Given the description of an element on the screen output the (x, y) to click on. 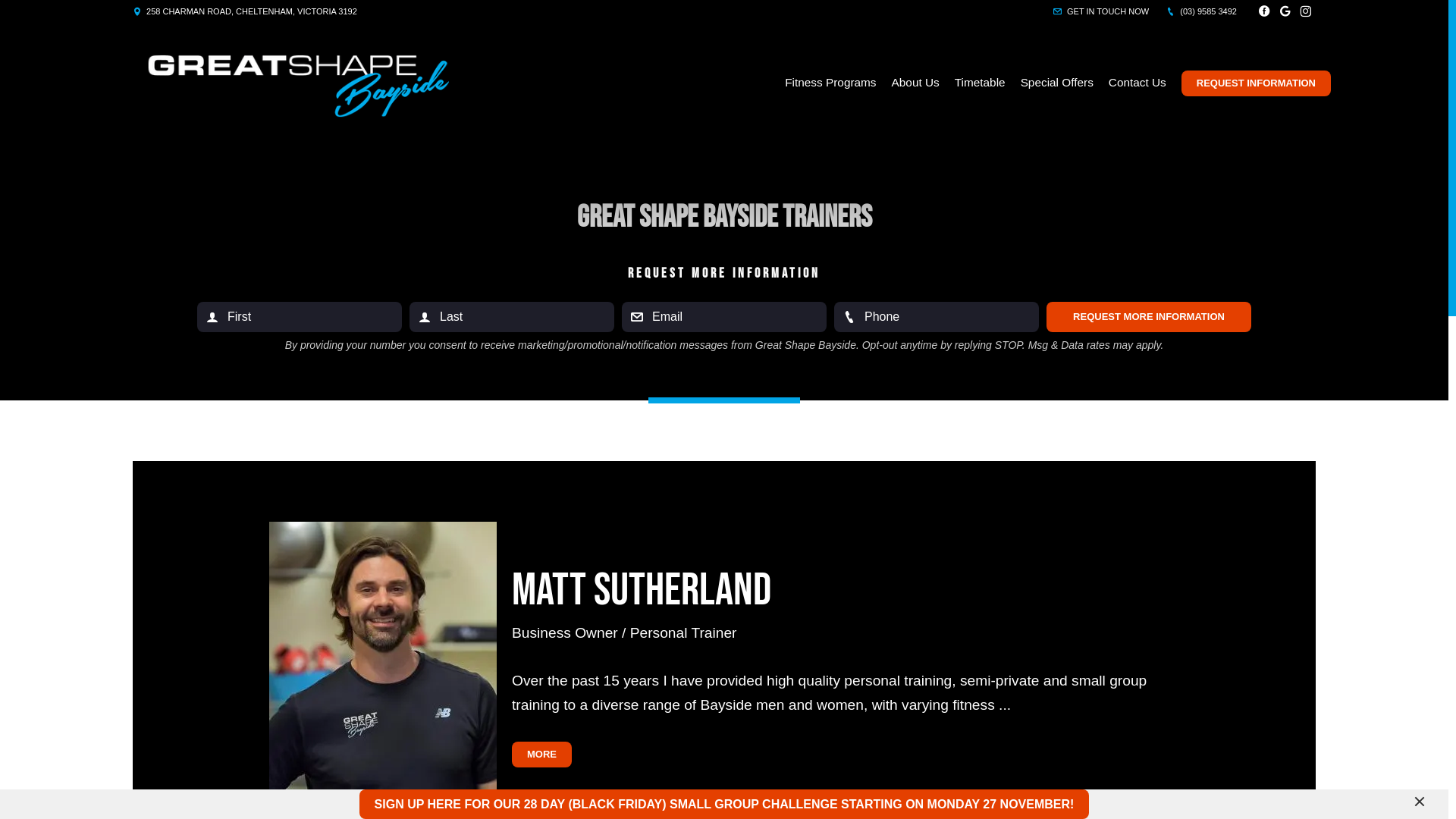
Fitness Programs Element type: text (830, 82)
First Element type: hover (299, 316)
Special Offers Element type: text (1057, 82)
REQUEST INFORMATION Element type: text (1255, 83)
GET IN TOUCH NOW Element type: text (1100, 10)
Request More Information Element type: text (1148, 316)
About Us Element type: text (915, 82)
Required Element type: hover (723, 316)
(03) 9585 3492 Element type: text (1201, 10)
Timetable Element type: text (980, 82)
Last Element type: hover (511, 316)
Required Element type: hover (936, 316)
Contact Us Element type: text (1137, 82)
MORE Element type: text (541, 754)
